Given the description of an element on the screen output the (x, y) to click on. 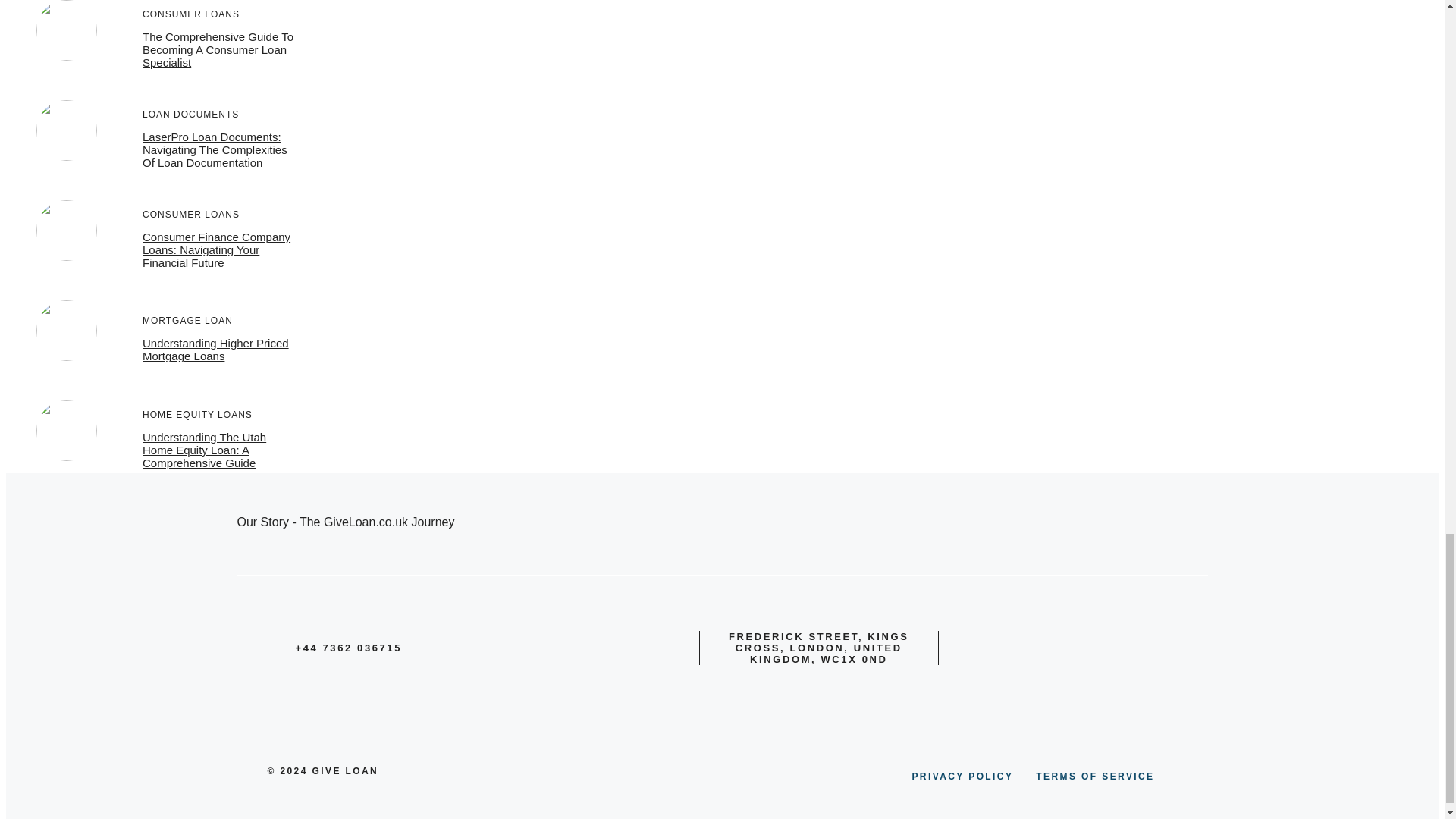
Understanding Higher Priced Mortgage Loans (215, 349)
